Given the description of an element on the screen output the (x, y) to click on. 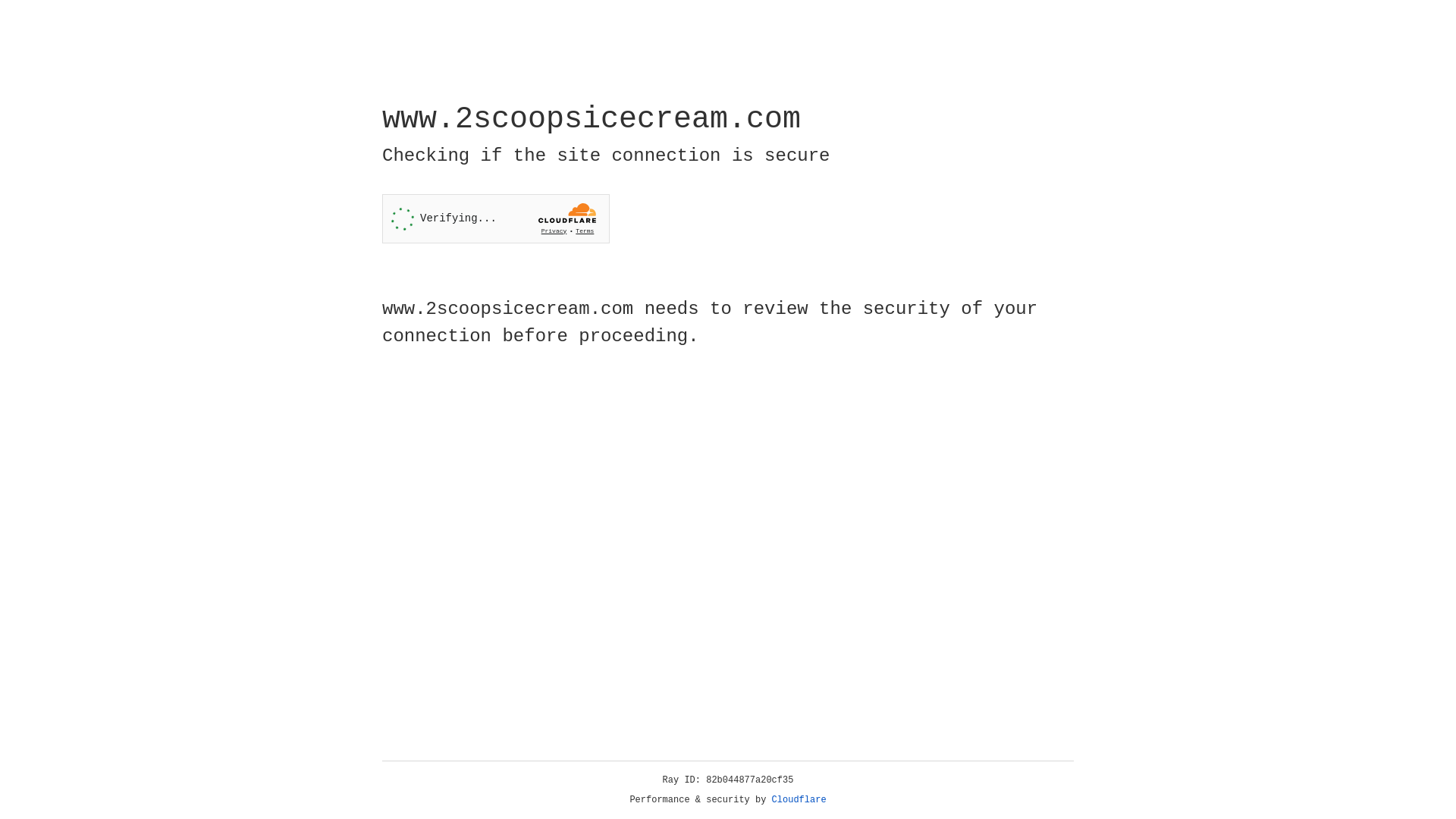
Cloudflare Element type: text (798, 799)
Widget containing a Cloudflare security challenge Element type: hover (495, 218)
